Given the description of an element on the screen output the (x, y) to click on. 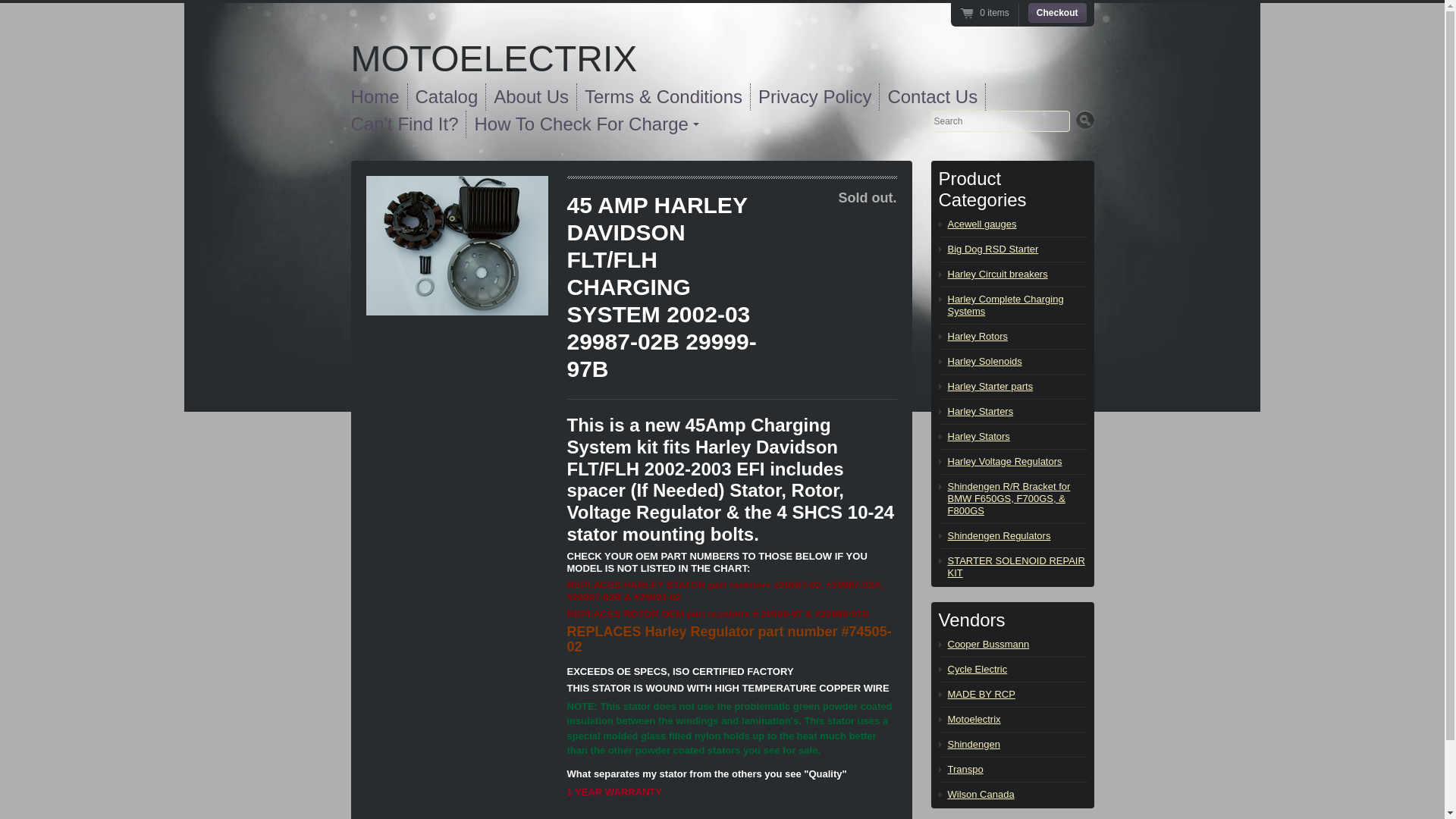
Shindengen Regulators (1016, 535)
Cycle Electric (1016, 669)
Search (1084, 119)
Harley Circuit breakers (1016, 274)
MOTOELECTRIX (493, 58)
Wilson Canada (1016, 794)
Home (493, 58)
Motoelectrix (1016, 719)
Harley Voltage Regulators (1016, 461)
MADE BY RCP (1016, 694)
